Given the description of an element on the screen output the (x, y) to click on. 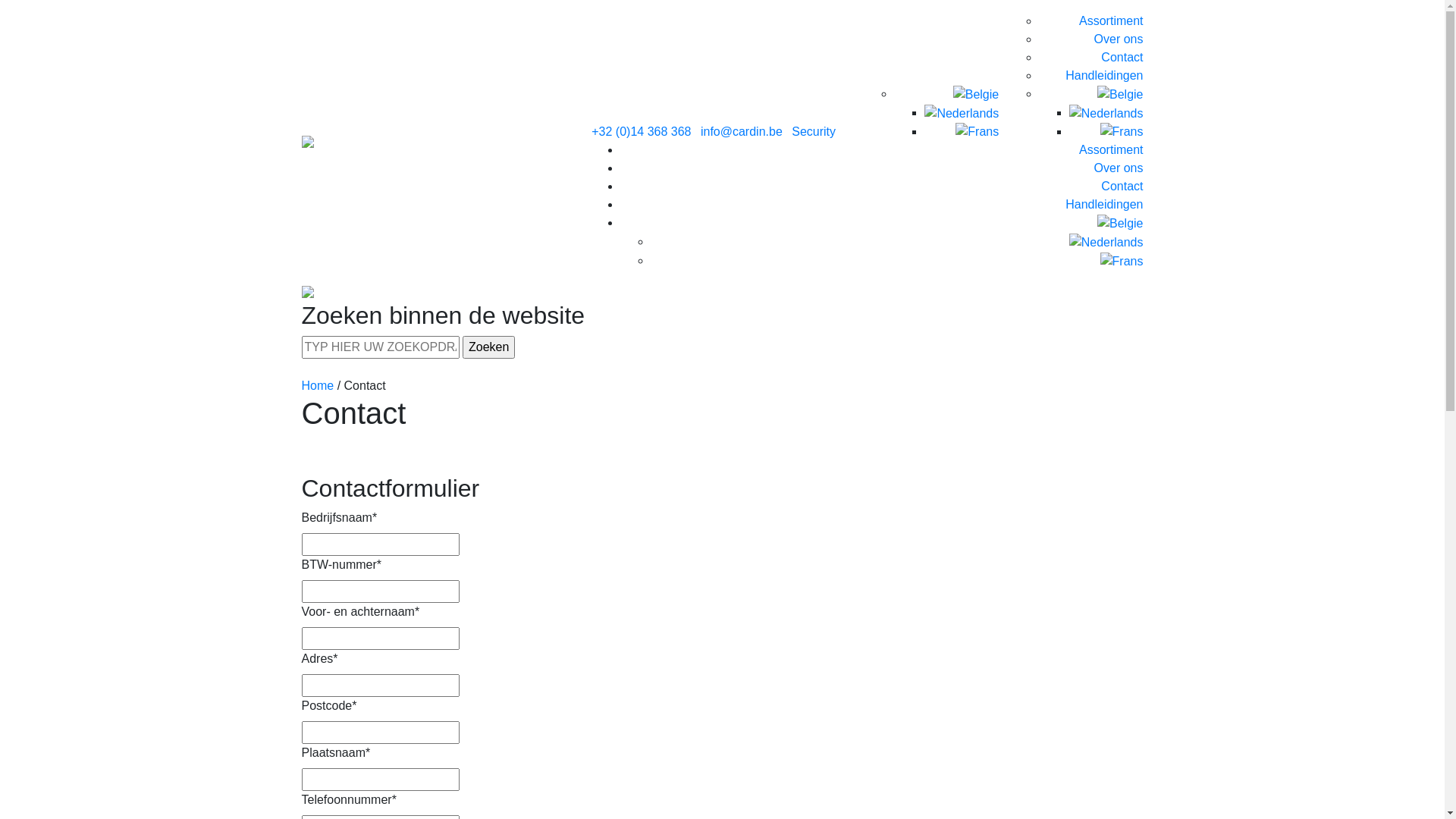
Over ons Element type: text (1118, 38)
Home Element type: text (317, 385)
Security Element type: text (813, 131)
Over ons Element type: text (1118, 167)
+32 (0)14 368 368 Element type: text (640, 131)
Contact Element type: text (1121, 56)
Handleidingen Element type: text (1103, 75)
Handleidingen Element type: text (1103, 203)
Assortiment Element type: text (1110, 20)
Zoeken Element type: text (488, 346)
Contact Element type: text (1121, 185)
Assortiment Element type: text (1110, 149)
info@cardin.be Element type: text (741, 131)
